Given the description of an element on the screen output the (x, y) to click on. 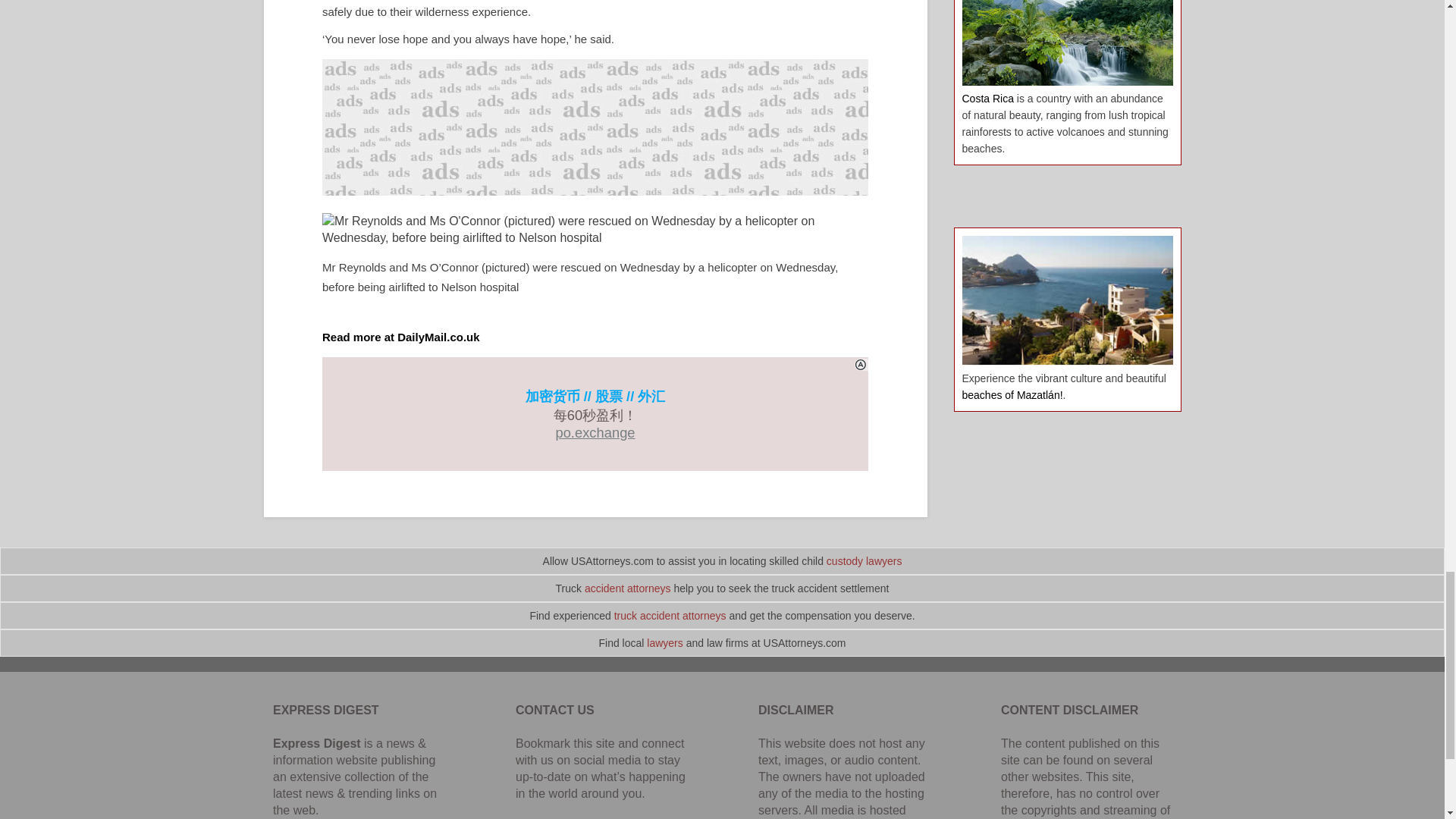
Costa Rica (986, 98)
accident attorneys (628, 588)
custody lawyers (864, 561)
truck accident attorneys (670, 615)
Read more at DailyMail.co.uk (400, 336)
lawyers (664, 643)
